Given the description of an element on the screen output the (x, y) to click on. 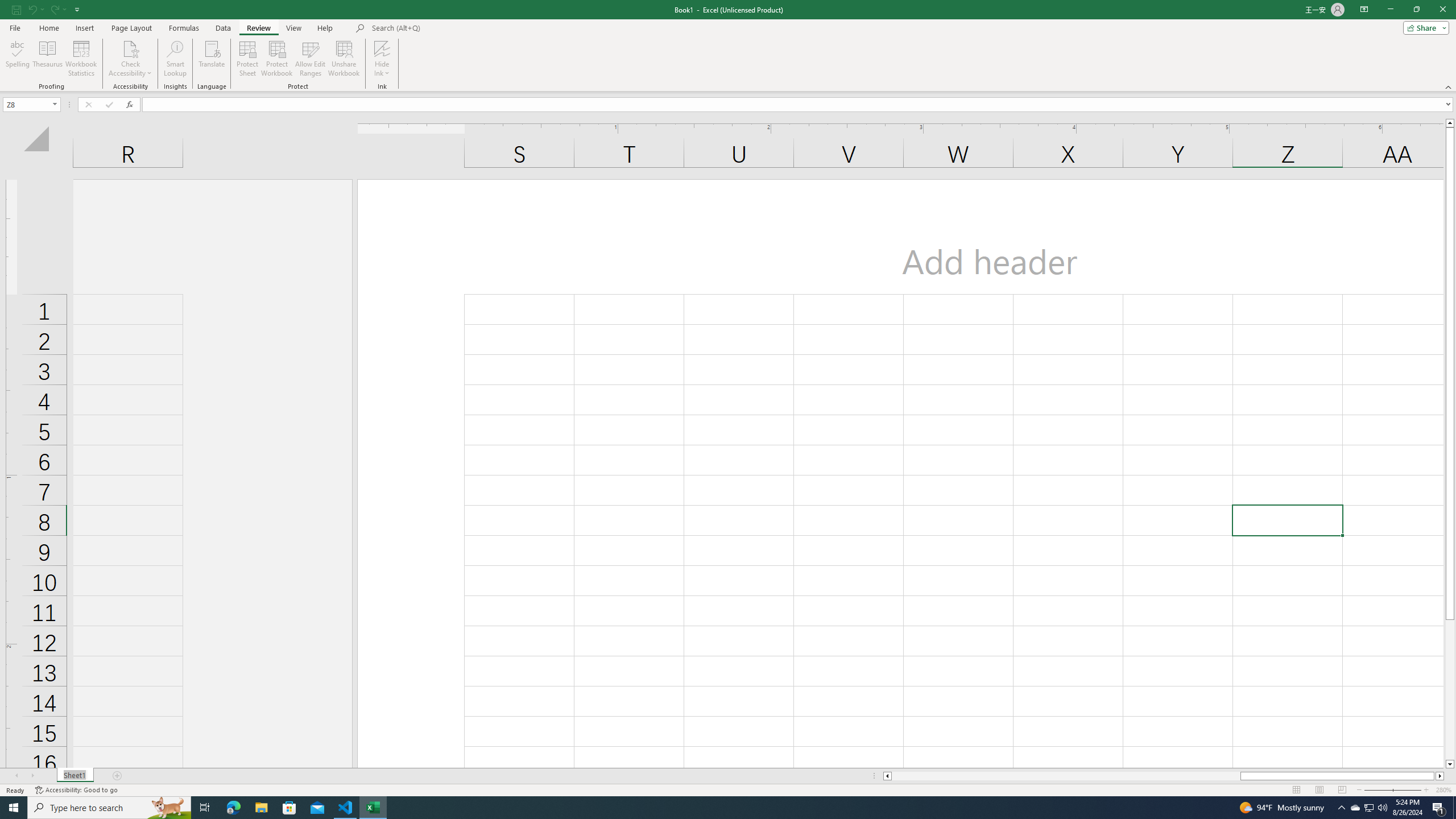
Workbook Statistics (81, 58)
Thesaurus... (47, 58)
Translate (211, 58)
